Given the description of an element on the screen output the (x, y) to click on. 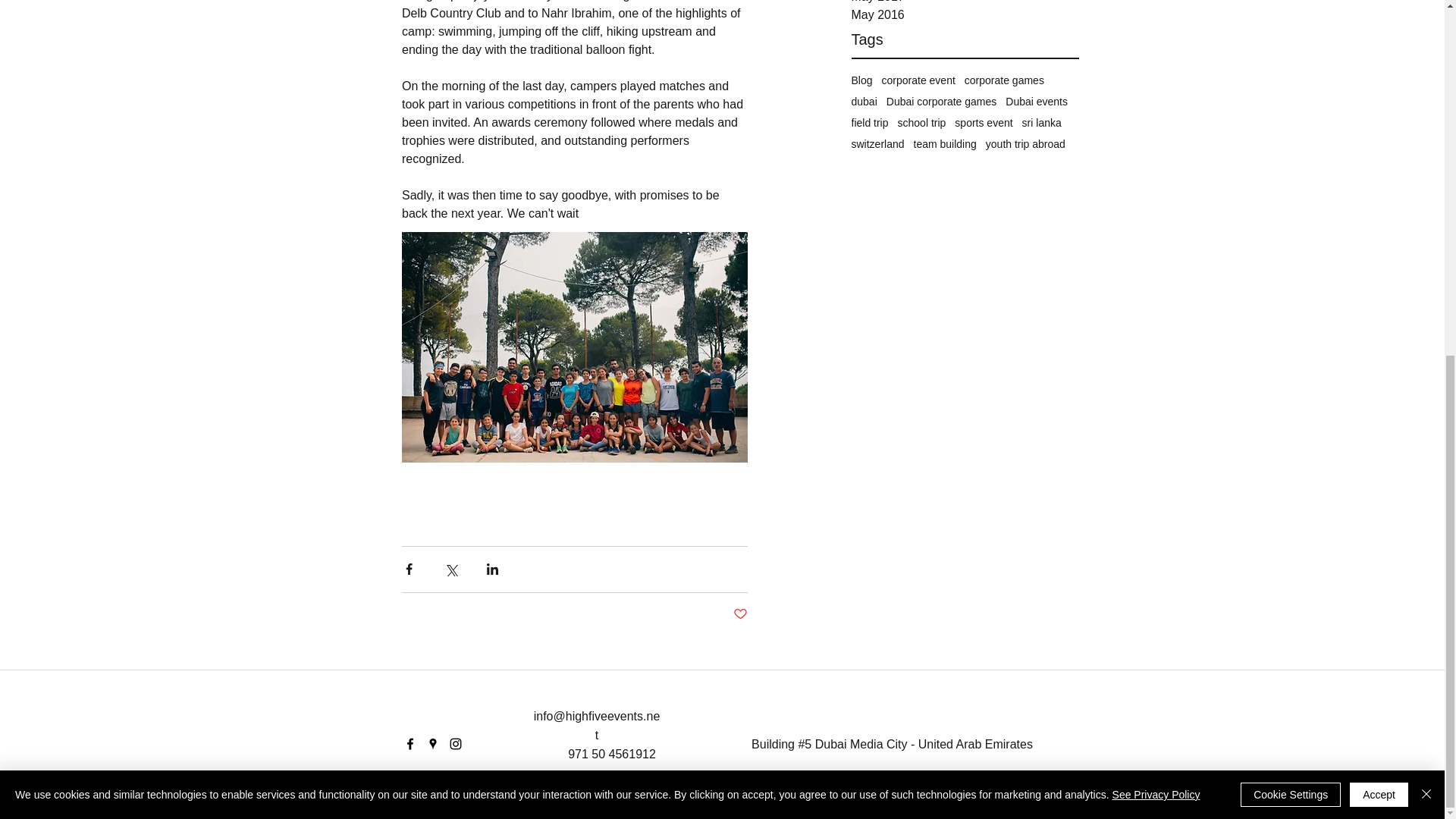
Dubai corporate games (941, 101)
Dubai events (1036, 101)
field trip (869, 122)
May 2016 (964, 14)
team building (945, 143)
switzerland (877, 143)
sri lanka (1041, 122)
school trip (922, 122)
Blog (861, 80)
Post not marked as liked (739, 614)
